Given the description of an element on the screen output the (x, y) to click on. 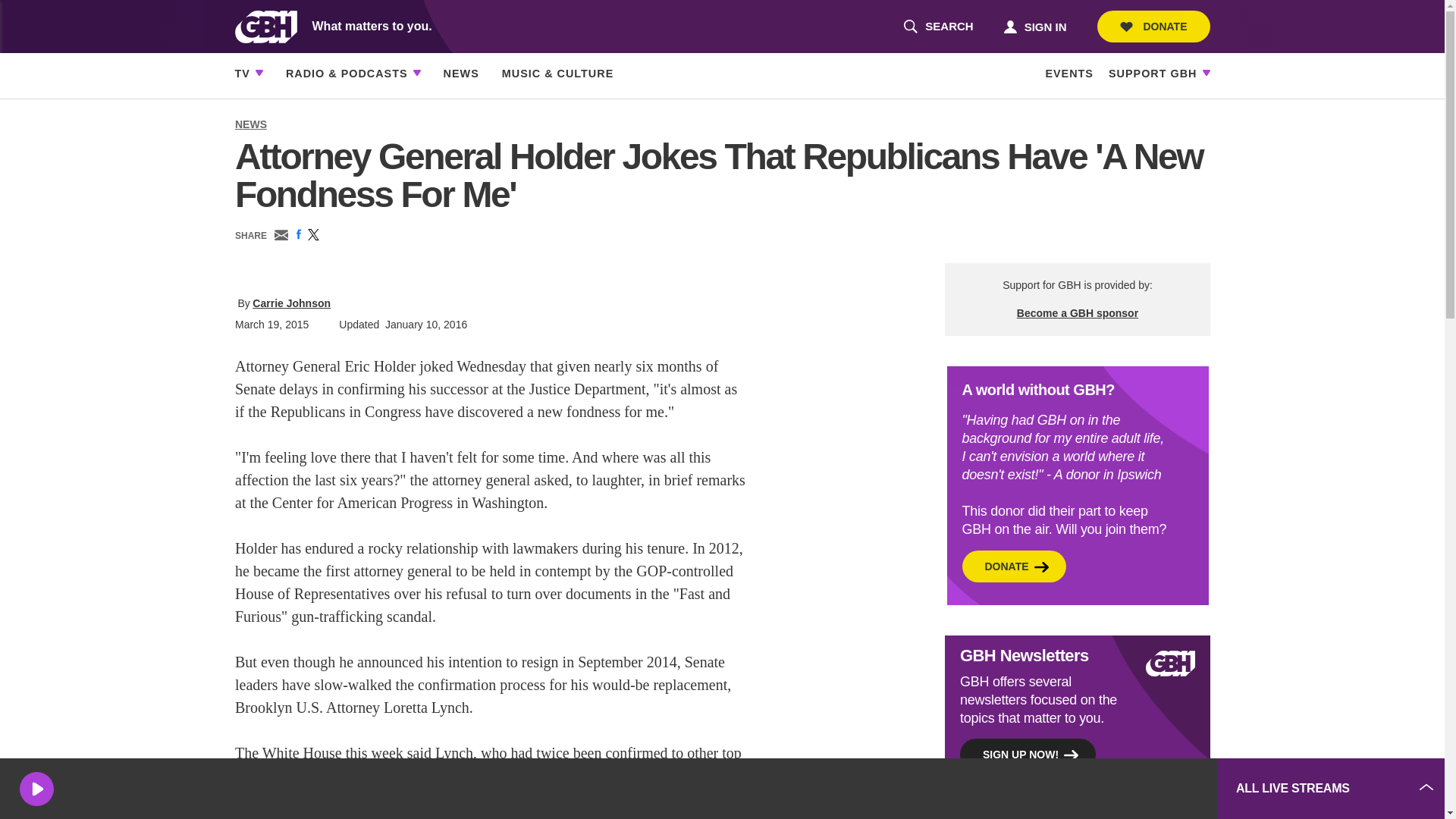
DONATE (1153, 26)
SIGN IN (1034, 25)
